Given the description of an element on the screen output the (x, y) to click on. 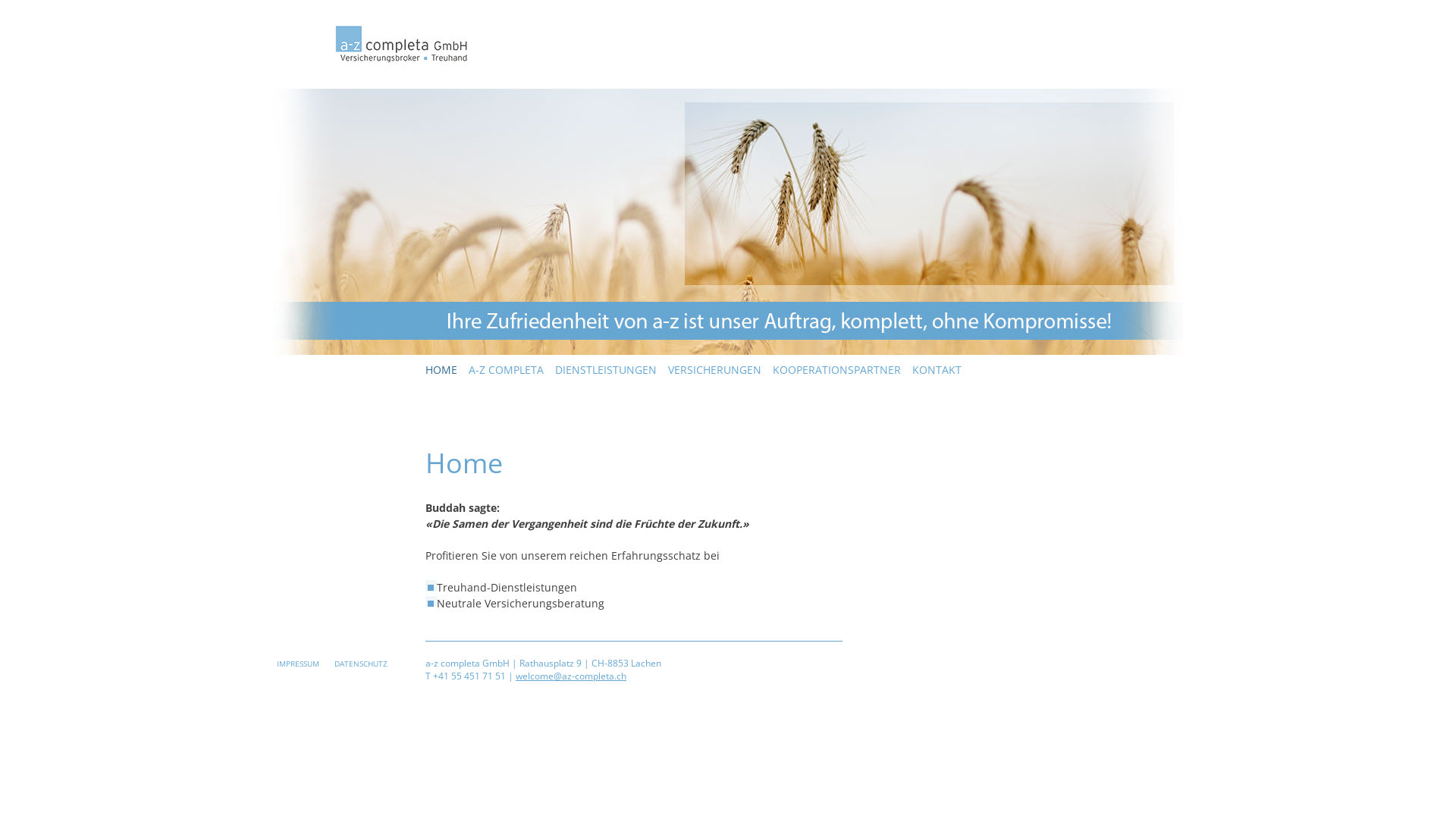
A-Z COMPLETA Element type: text (505, 369)
VERSICHERUNGEN Element type: text (714, 369)
DIENSTLEISTUNGEN Element type: text (605, 369)
DATENSCHUTZ Element type: text (364, 663)
KONTAKT Element type: text (936, 369)
HOME Element type: text (441, 369)
KOOPERATIONSPARTNER Element type: text (836, 369)
IMPRESSUM Element type: text (301, 663)
welcome@az-completa.ch Element type: text (570, 675)
